Given the description of an element on the screen output the (x, y) to click on. 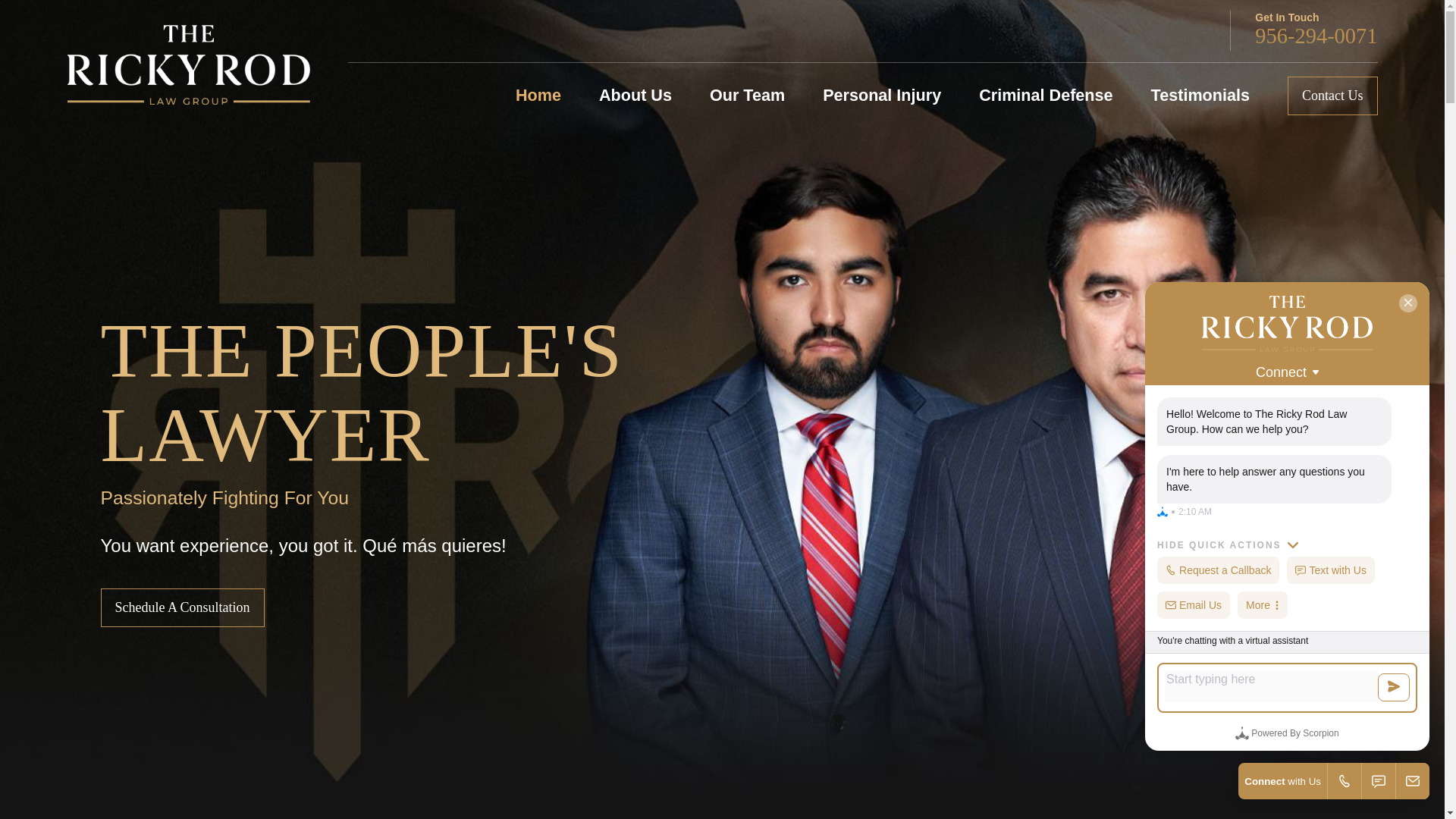
Criminal Defense (1045, 95)
About Us (634, 95)
956-294-0071 (1316, 35)
Home (187, 64)
Home (537, 95)
Testimonials (1200, 95)
Personal Injury (881, 95)
Our Team (747, 95)
